Given the description of an element on the screen output the (x, y) to click on. 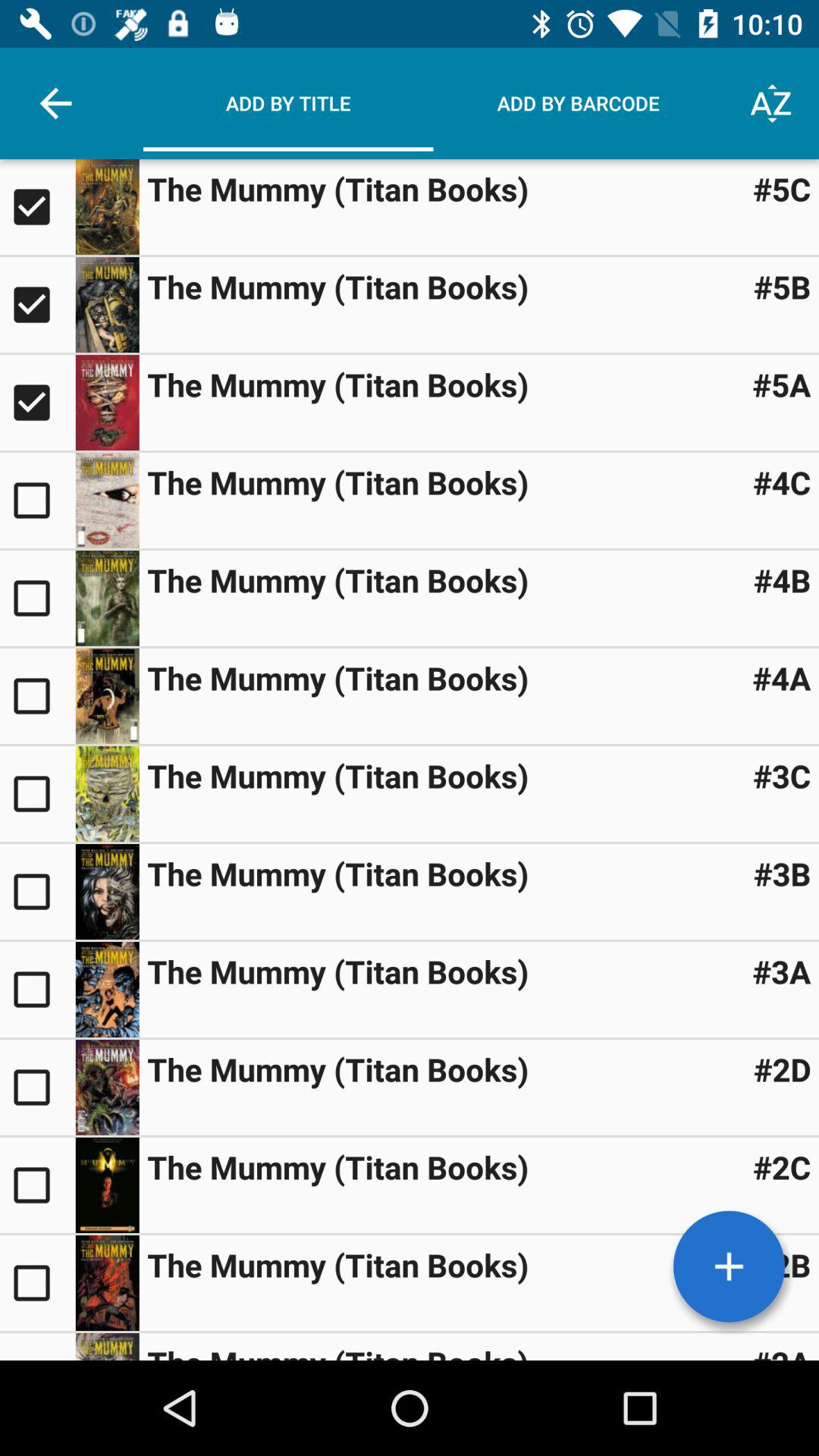
scroll until #4b (782, 579)
